Given the description of an element on the screen output the (x, y) to click on. 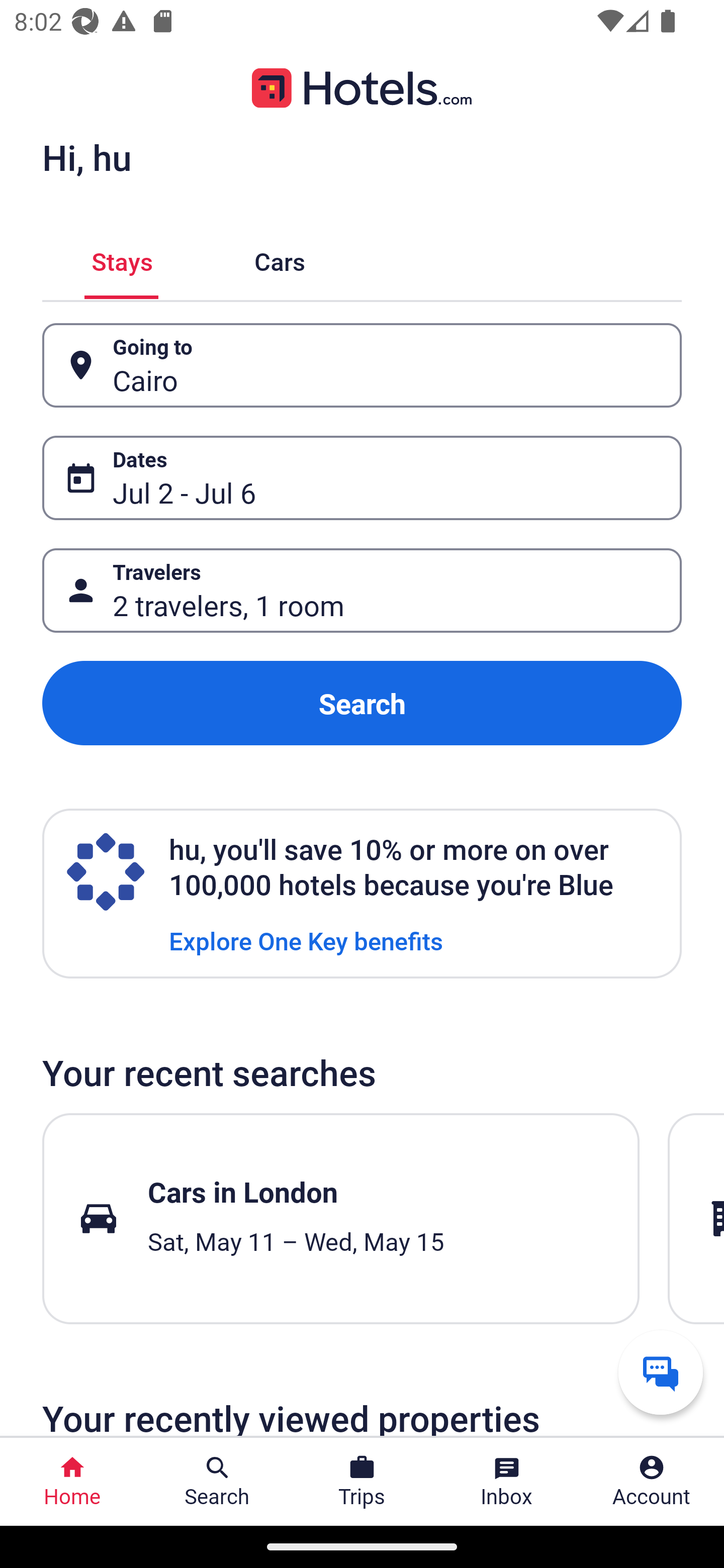
Hi, hu (86, 156)
Cars (279, 259)
Going to Button Cairo (361, 365)
Dates Button Jul 2 - Jul 6 (361, 477)
Travelers Button 2 travelers, 1 room (361, 590)
Search (361, 702)
Get help from a virtual agent (660, 1371)
Search Search Button (216, 1481)
Trips Trips Button (361, 1481)
Inbox Inbox Button (506, 1481)
Account Profile. Button (651, 1481)
